Given the description of an element on the screen output the (x, y) to click on. 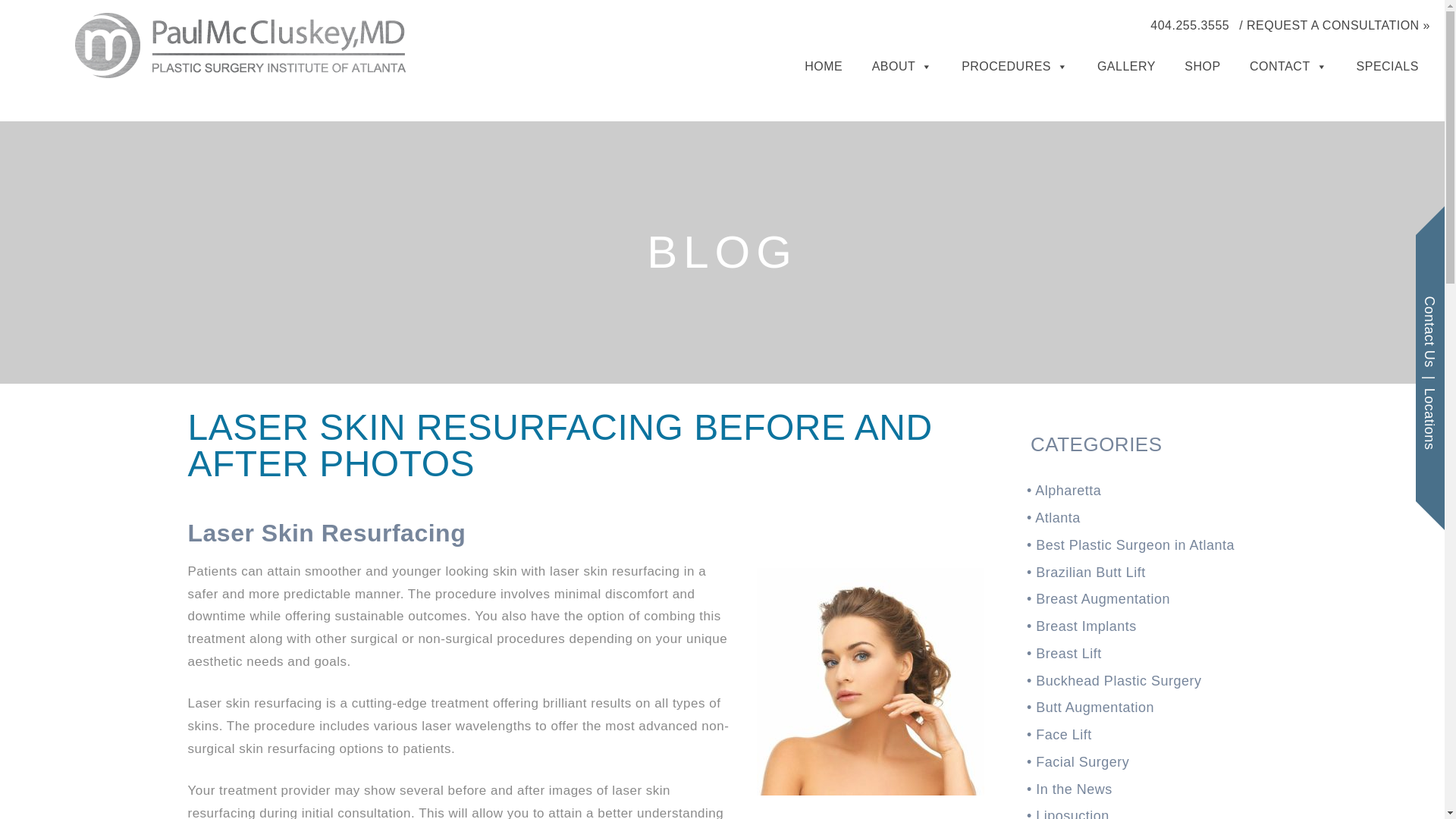
404.255.3555 (1189, 25)
PROCEDURES (1013, 63)
HOME (824, 63)
ABOUT (902, 63)
